Given the description of an element on the screen output the (x, y) to click on. 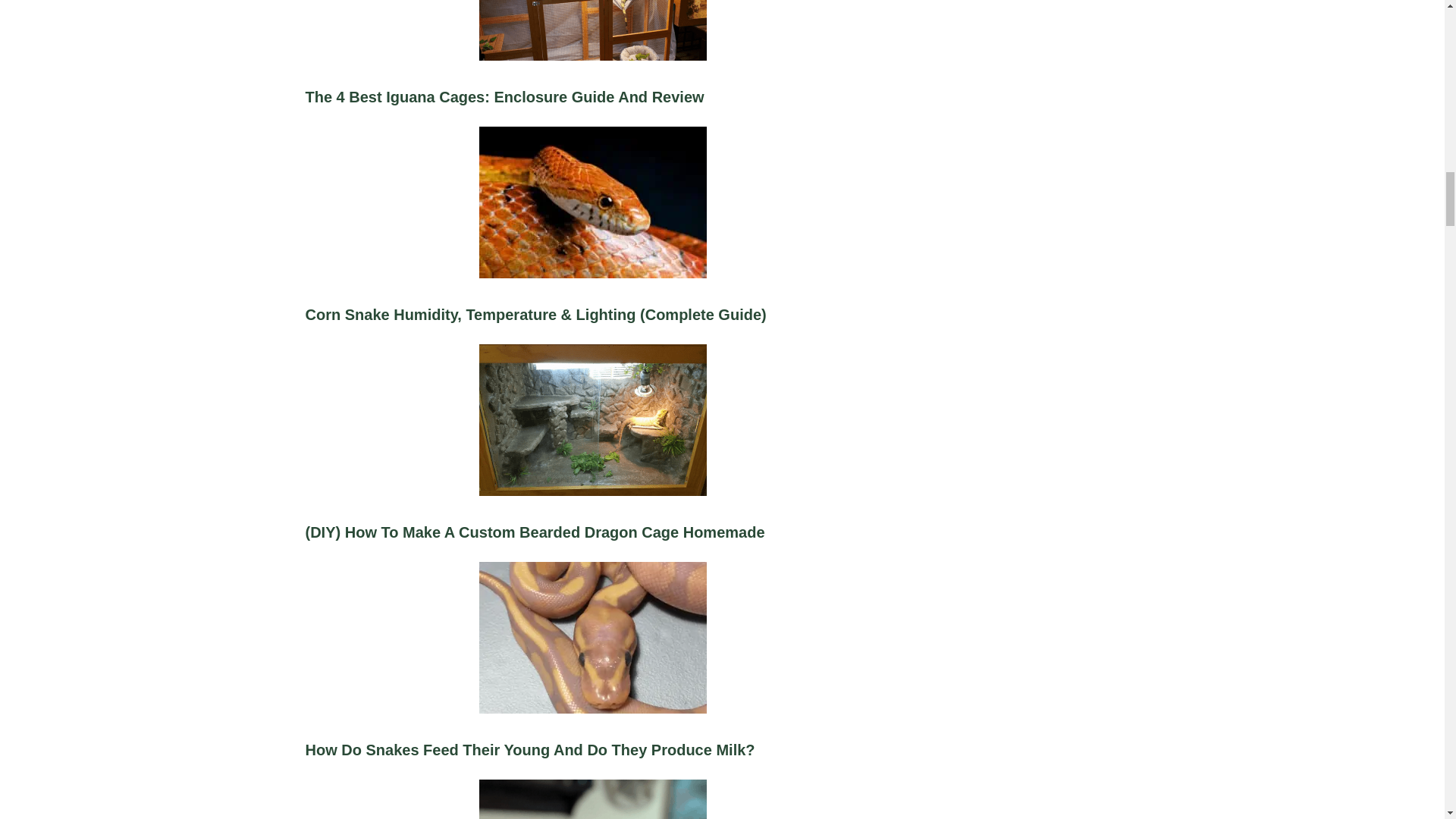
The 4 Best Iguana Cages: Enclosure Guide And Review (592, 70)
